Given the description of an element on the screen output the (x, y) to click on. 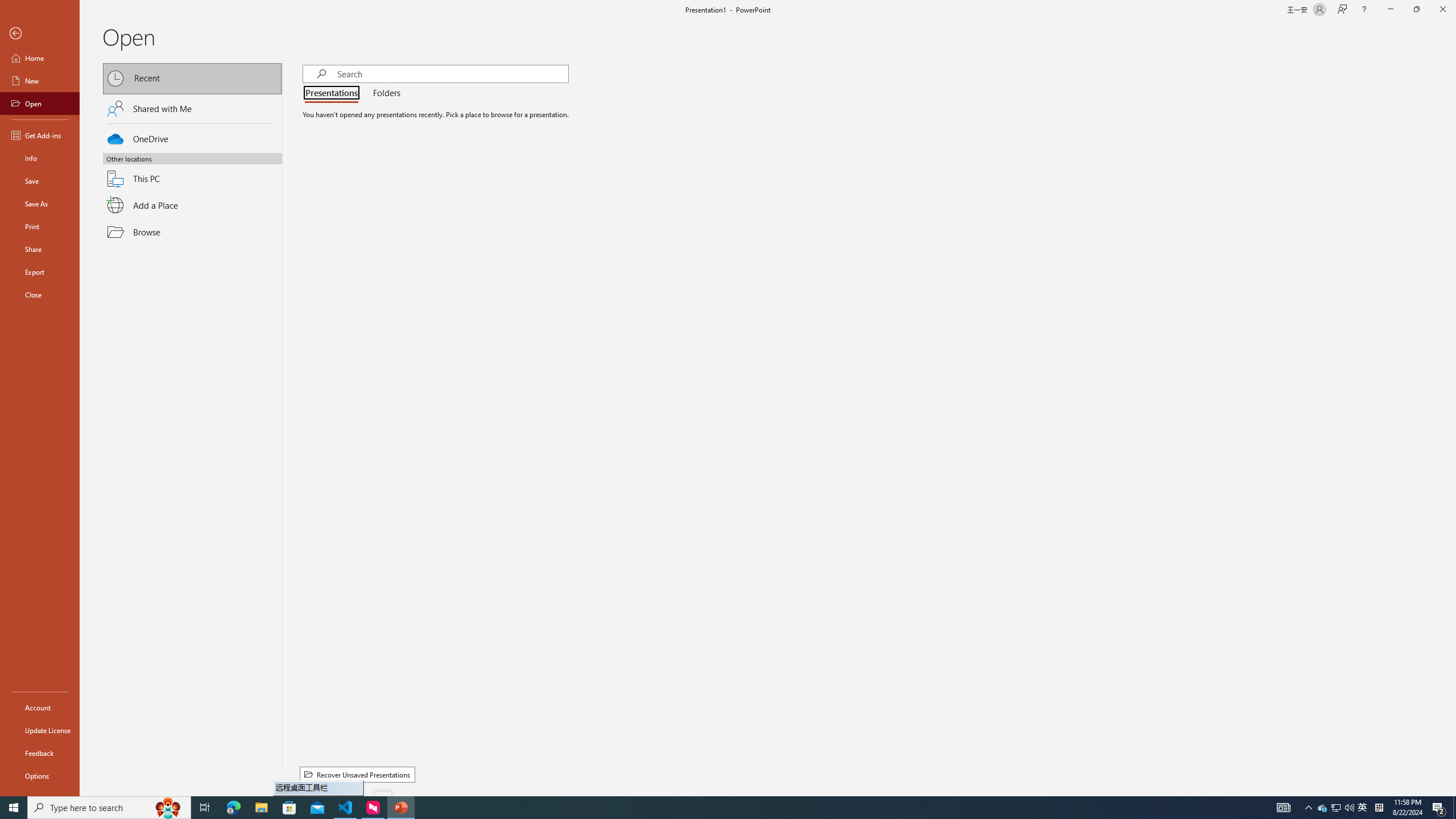
Recent (192, 78)
Print (40, 225)
Save As (40, 203)
